Given the description of an element on the screen output the (x, y) to click on. 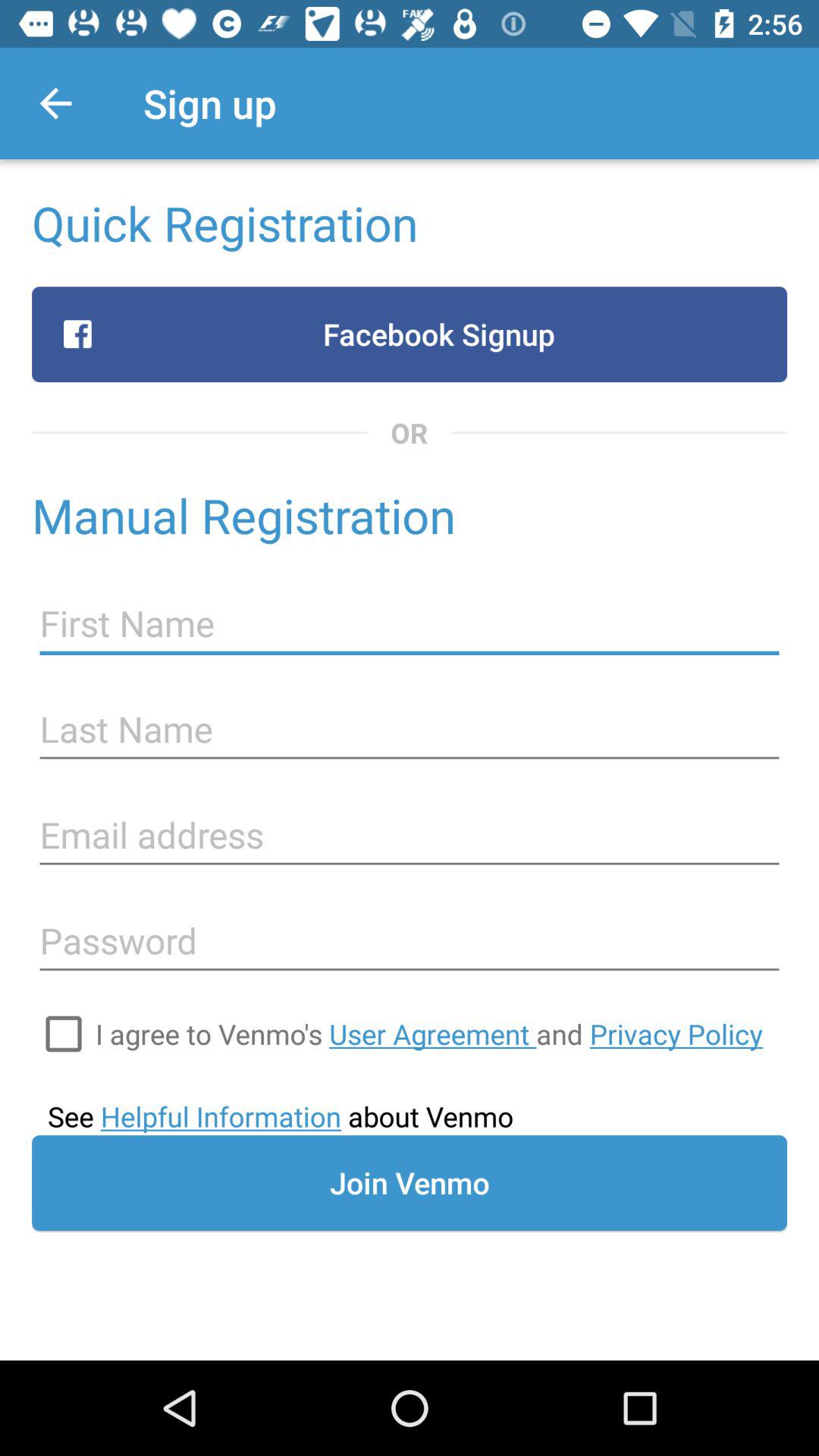
enter your last name (409, 729)
